Given the description of an element on the screen output the (x, y) to click on. 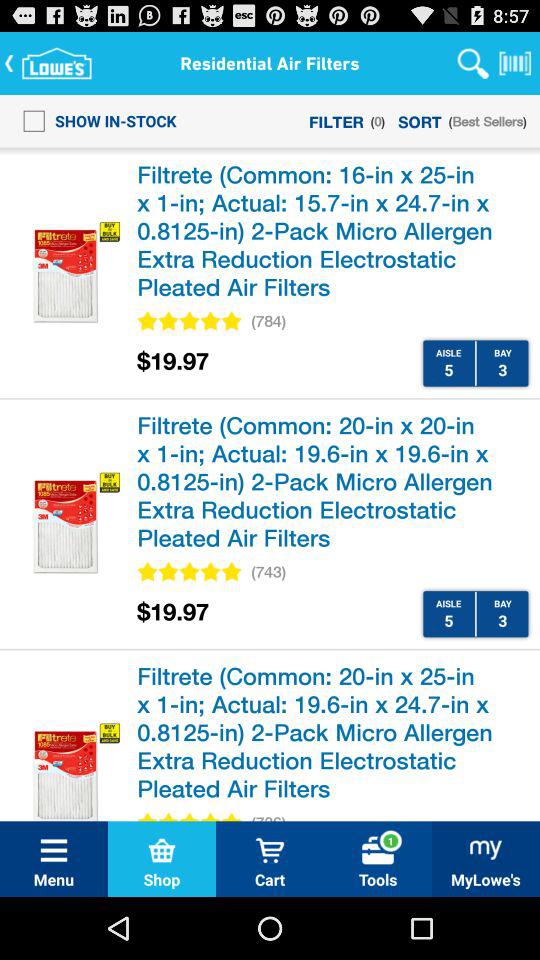
flip until show in-stock item (94, 120)
